Given the description of an element on the screen output the (x, y) to click on. 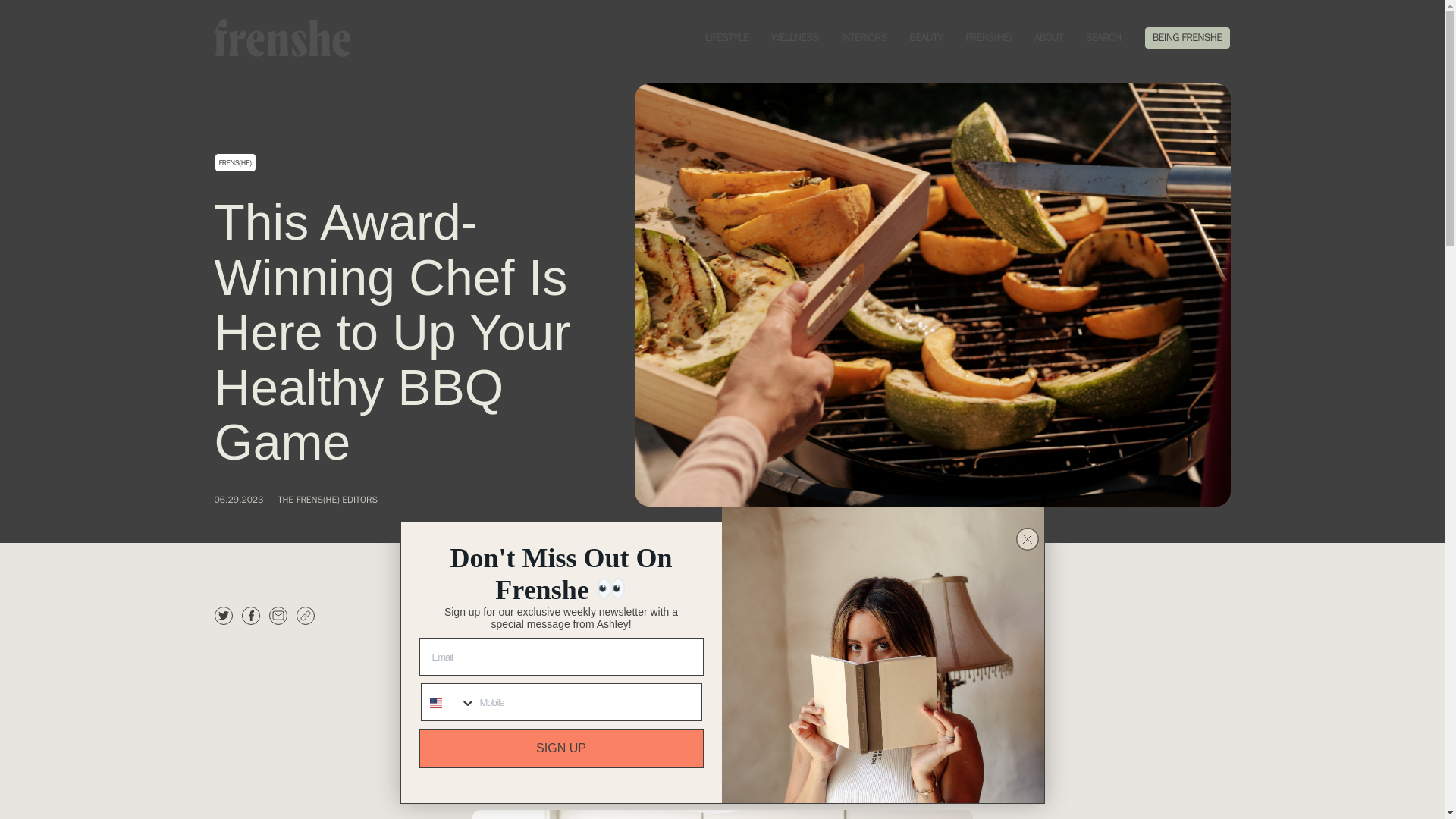
Twitter (222, 615)
Frenshe (281, 36)
United States (435, 702)
ABOUT (1047, 37)
Vegan Barbecue (863, 737)
Share via email (276, 615)
BEAUTY (926, 37)
Share article link (304, 615)
INTERIORS (863, 37)
SEARCH (1103, 37)
Close dialog 1 (1027, 538)
BEING FRENSHE (1188, 37)
Submit (21, 7)
LIFESTYLE (726, 37)
Grass VBQ Joint (912, 717)
